Given the description of an element on the screen output the (x, y) to click on. 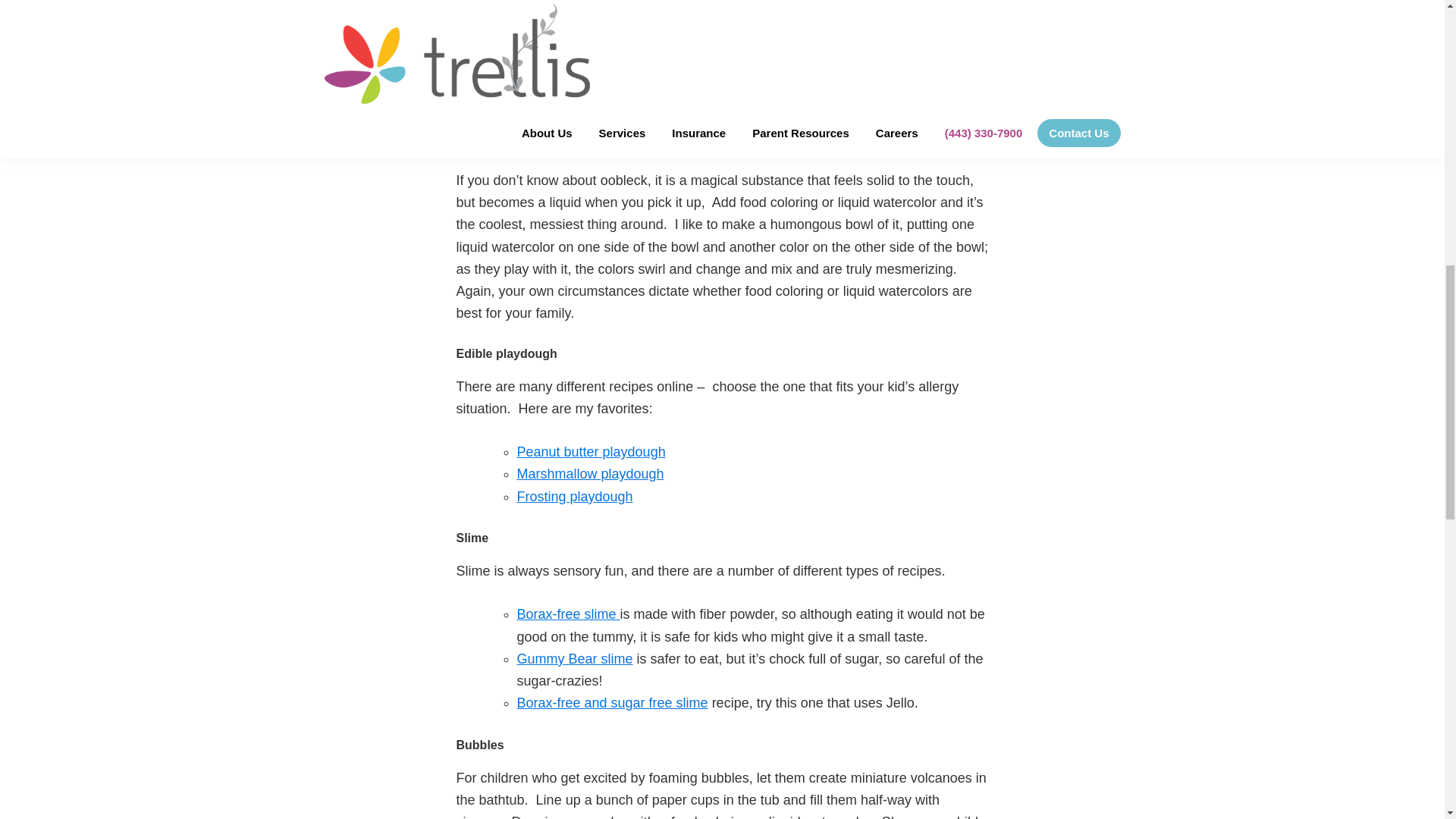
make your own (717, 40)
Gummy Bear slime (574, 658)
Peanut butter playdough (590, 451)
Frosting playdough (574, 496)
Borax-free and sugar free slime (611, 702)
Borax-free slime (568, 613)
Marshmallow playdough (589, 473)
